Given the description of an element on the screen output the (x, y) to click on. 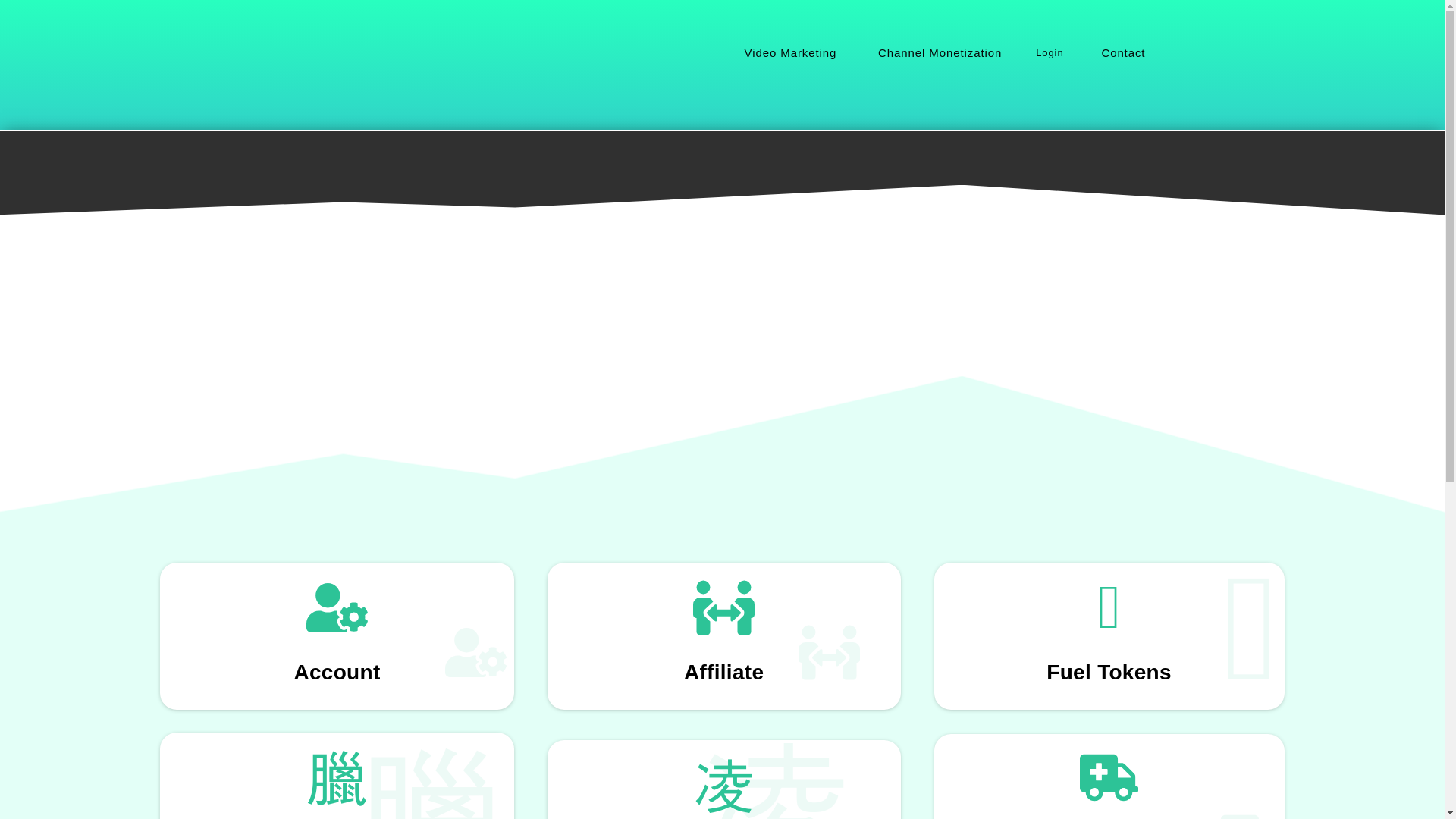
Login (1049, 53)
Contact (1121, 53)
Video Marketing (789, 53)
Channel Monetization (938, 53)
